Given the description of an element on the screen output the (x, y) to click on. 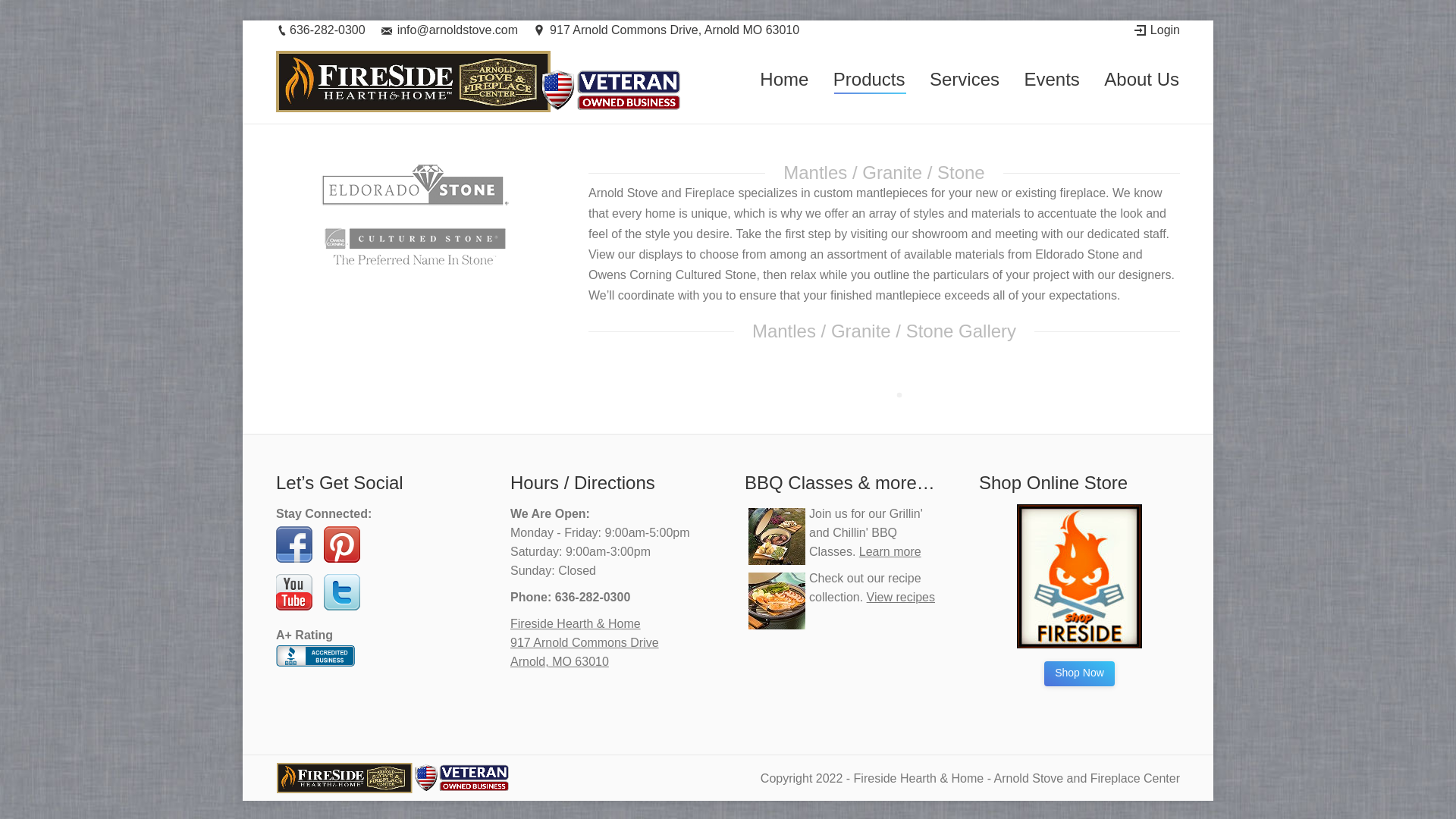
Home (783, 80)
Login (1156, 29)
Products (868, 80)
